Given the description of an element on the screen output the (x, y) to click on. 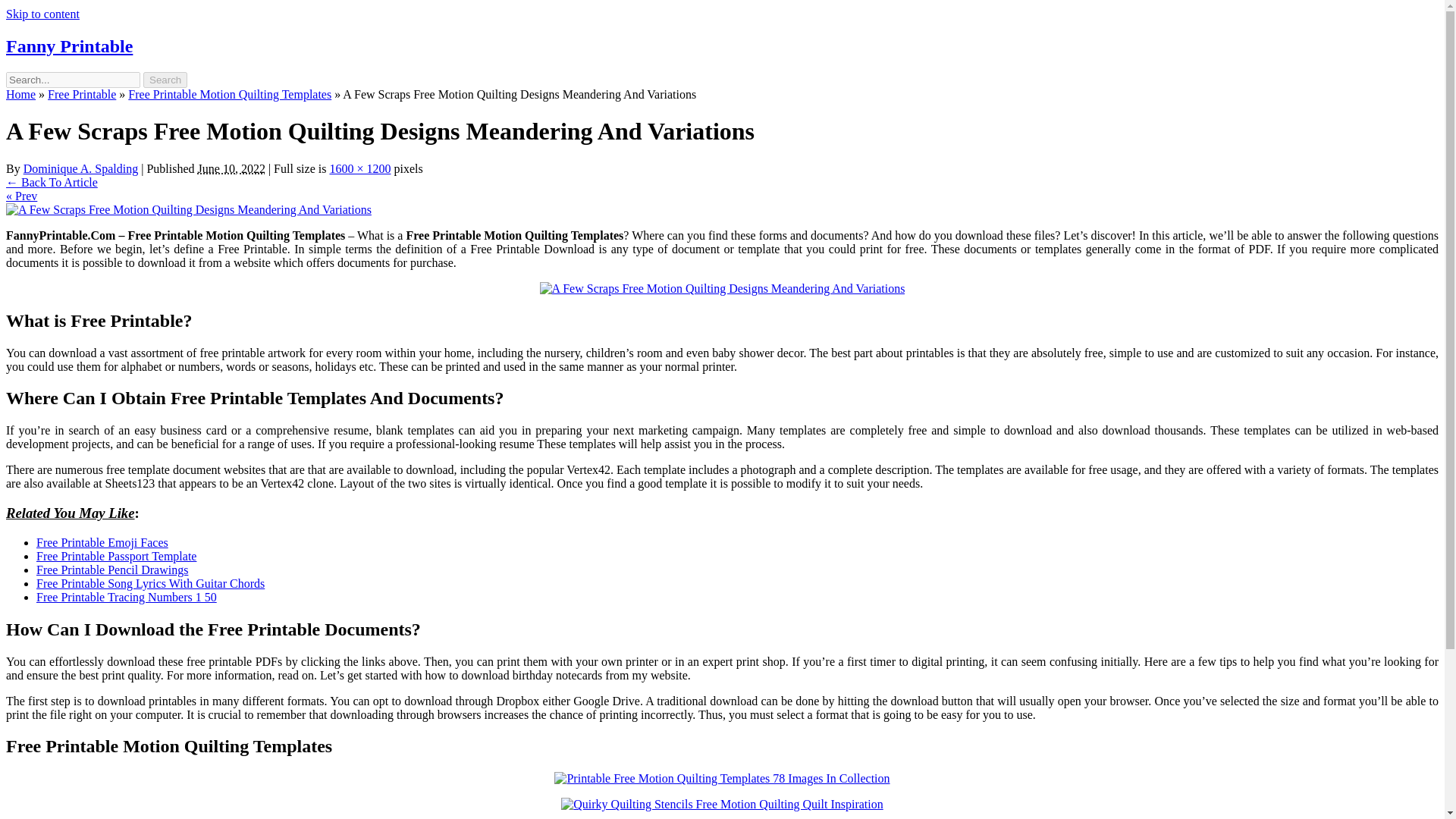
Free Printable Motion Quilting Templates (229, 93)
Free Printable (82, 93)
Dominique A. Spalding (80, 168)
Return to Free Printable Motion Quilting Templates (51, 182)
Skip to content (42, 13)
Link to full-size image (359, 168)
Free Printable Tracing Numbers 1 50 (126, 596)
Search (164, 79)
Free Printable Pencil Drawings (111, 569)
Fanny Printable (68, 46)
6:23 pm (231, 168)
Free Printable Emoji Faces (102, 542)
